Given the description of an element on the screen output the (x, y) to click on. 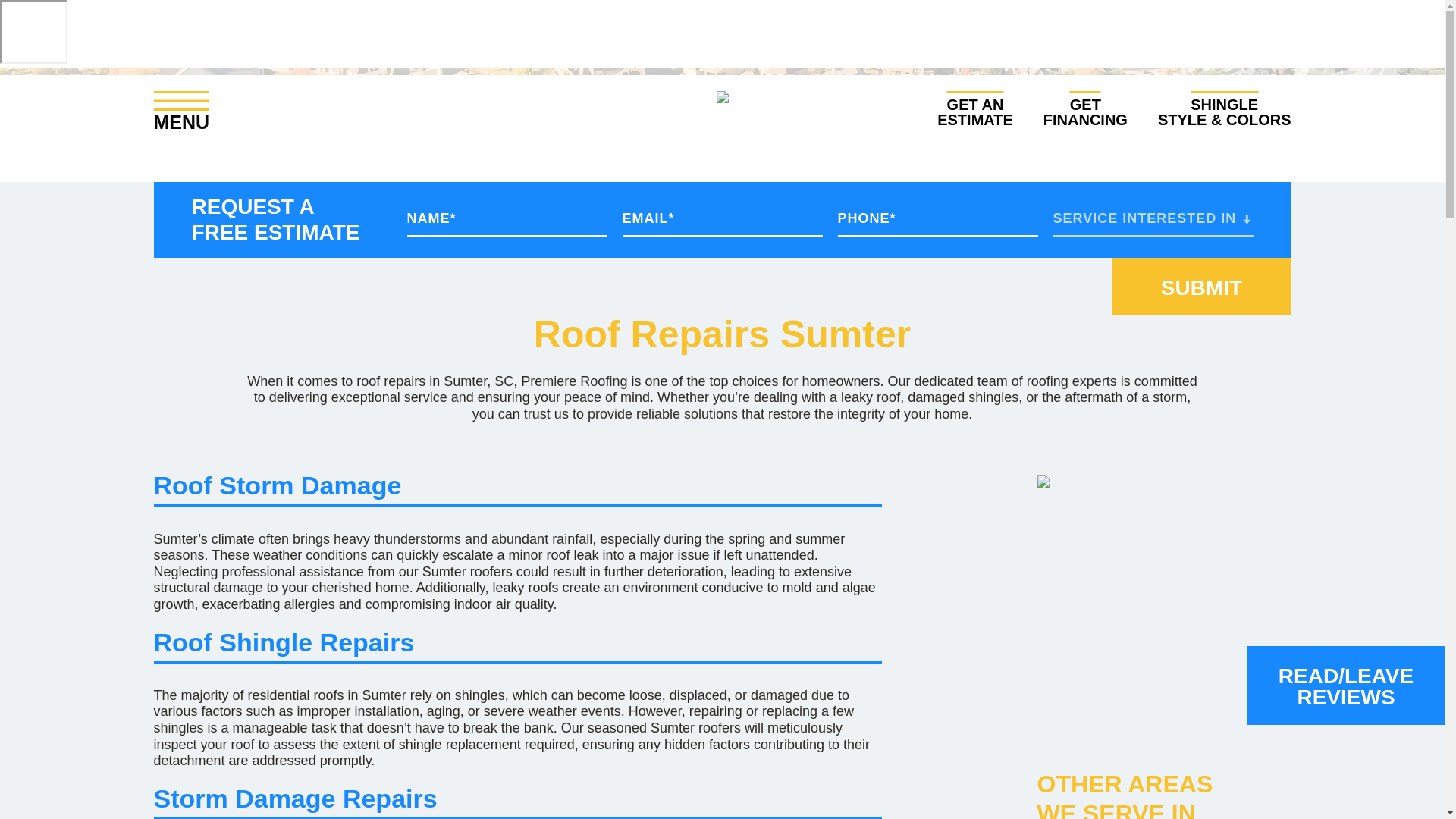
MENU (180, 110)
SUBMIT (1084, 108)
